Given the description of an element on the screen output the (x, y) to click on. 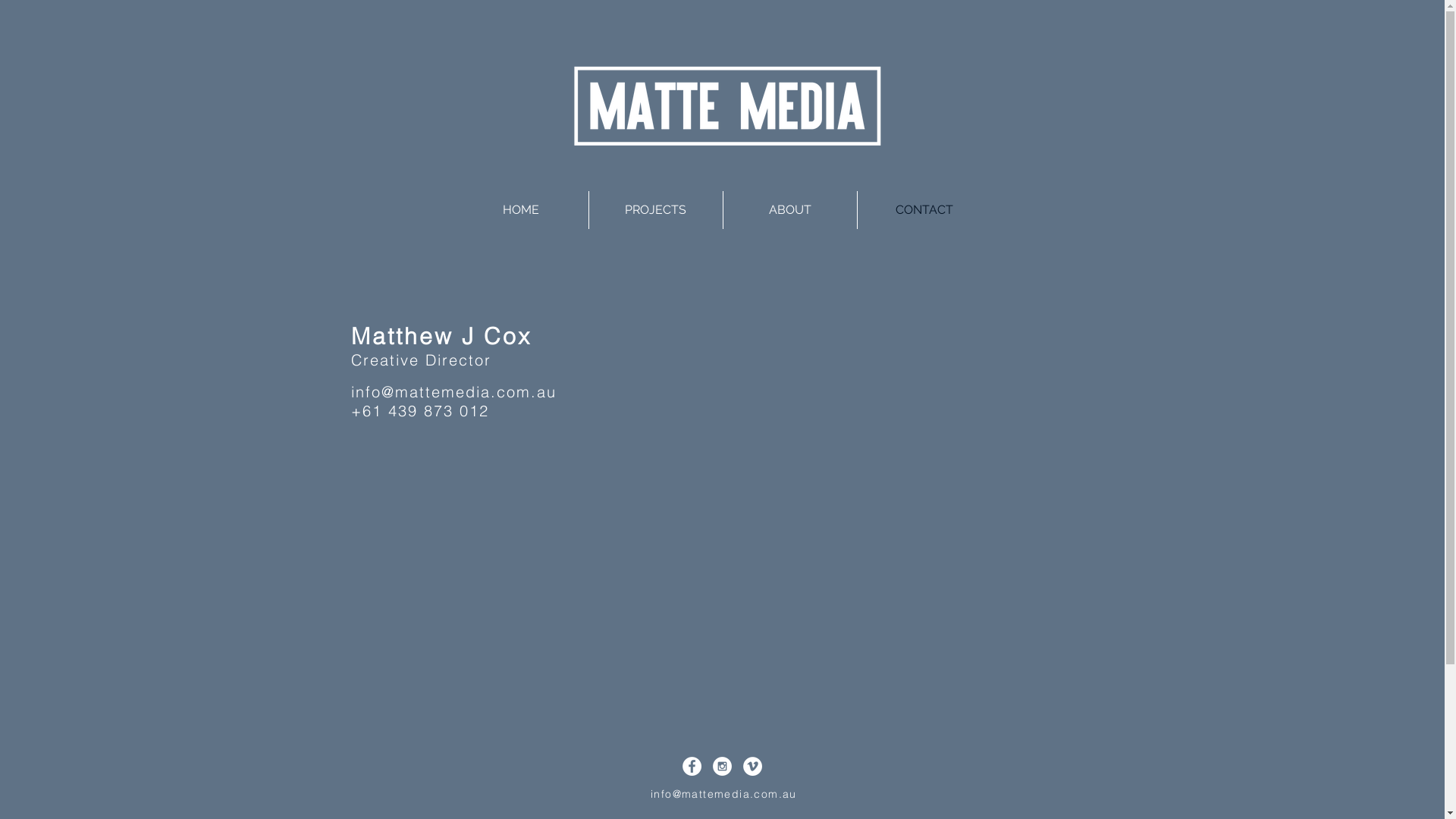
PROJECTS Element type: text (655, 210)
info@mattemedia.com.au Element type: text (723, 793)
CONTACT Element type: text (923, 210)
info@mattemedia.com.au Element type: text (452, 390)
HOME Element type: text (520, 210)
Matte Media.png Element type: hover (722, 114)
ABOUT Element type: text (788, 210)
